Given the description of an element on the screen output the (x, y) to click on. 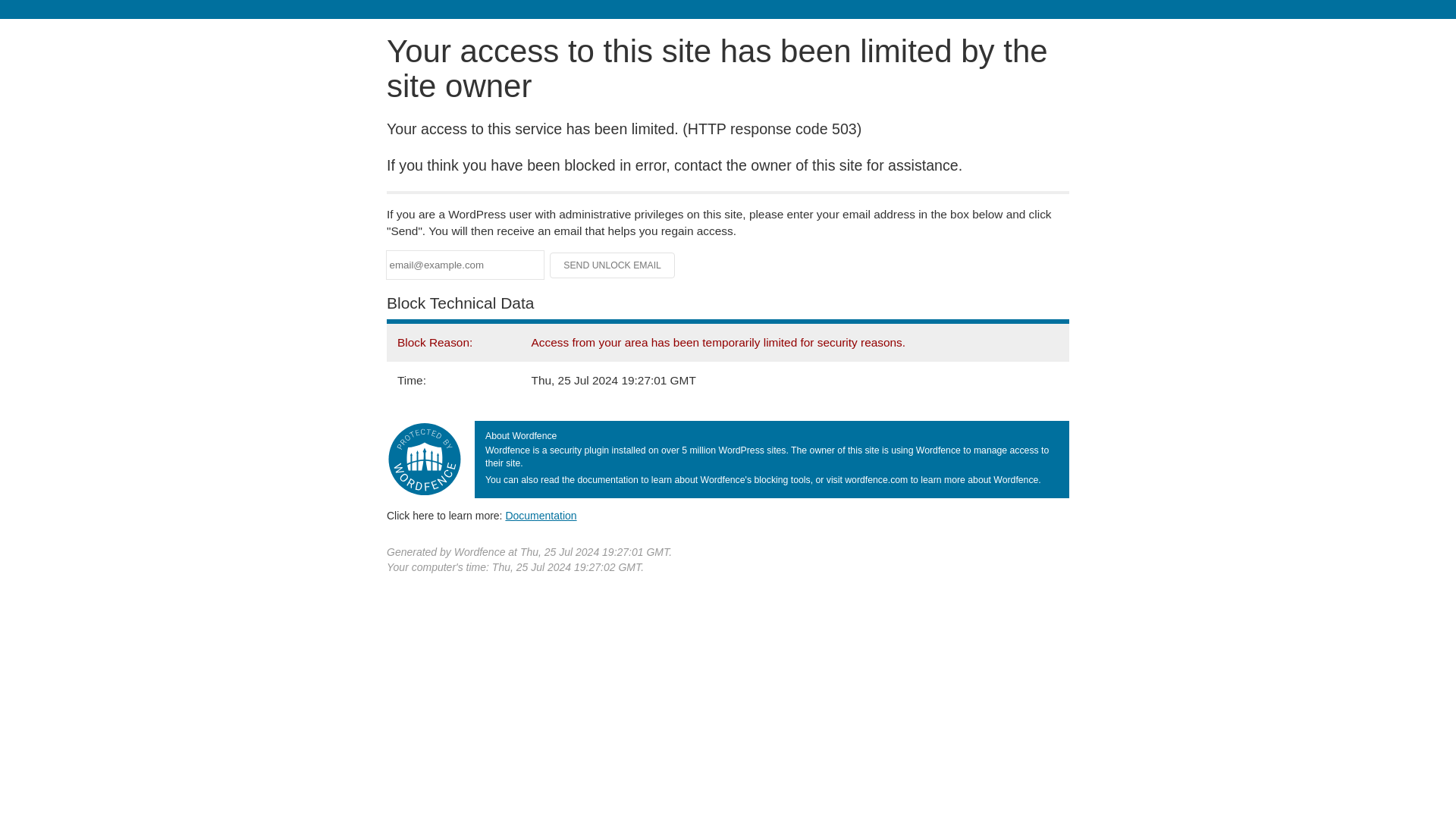
Send Unlock Email (612, 265)
Send Unlock Email (612, 265)
Documentation (540, 515)
